Given the description of an element on the screen output the (x, y) to click on. 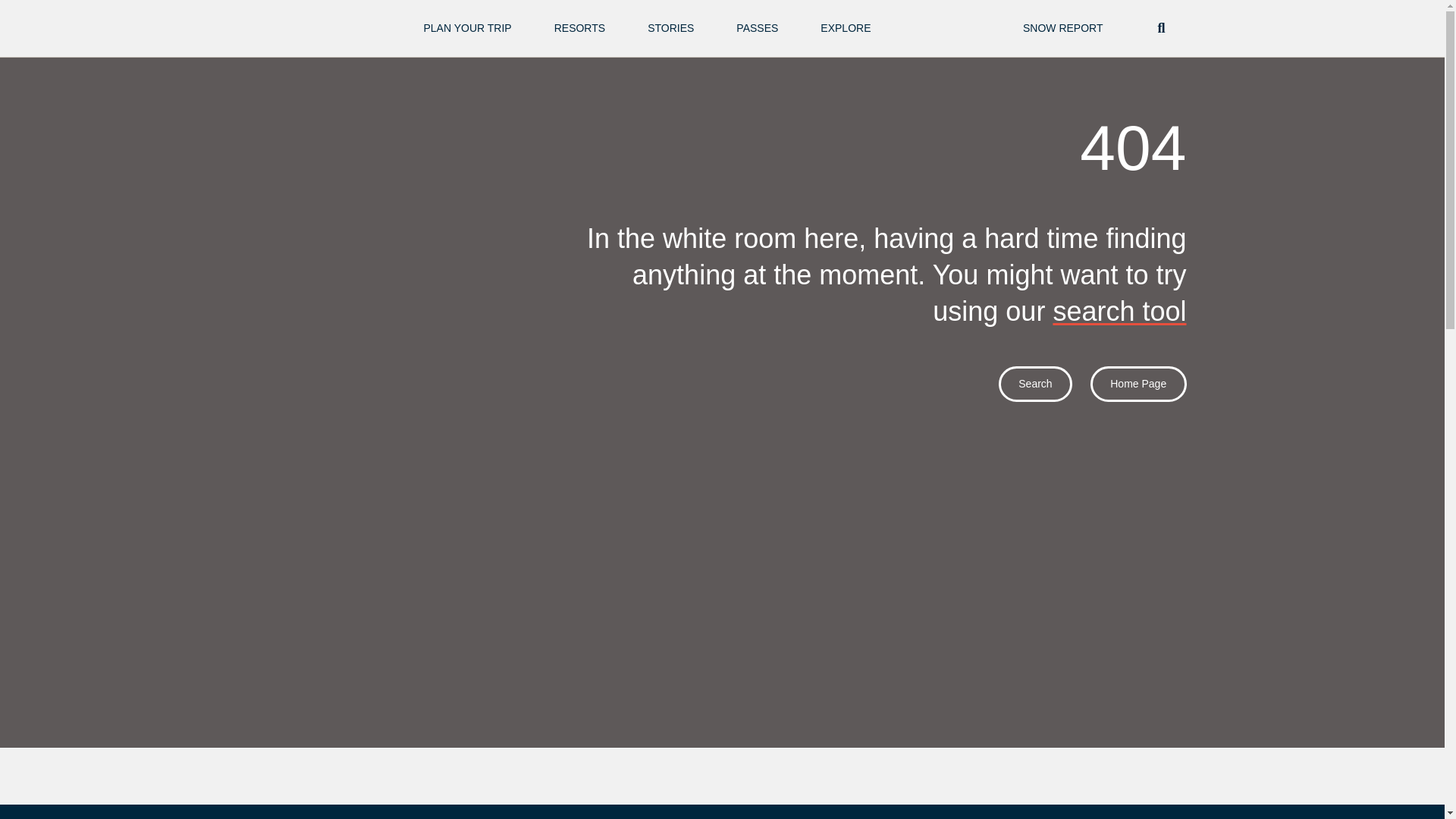
PLAN YOUR TRIP (466, 28)
